Given the description of an element on the screen output the (x, y) to click on. 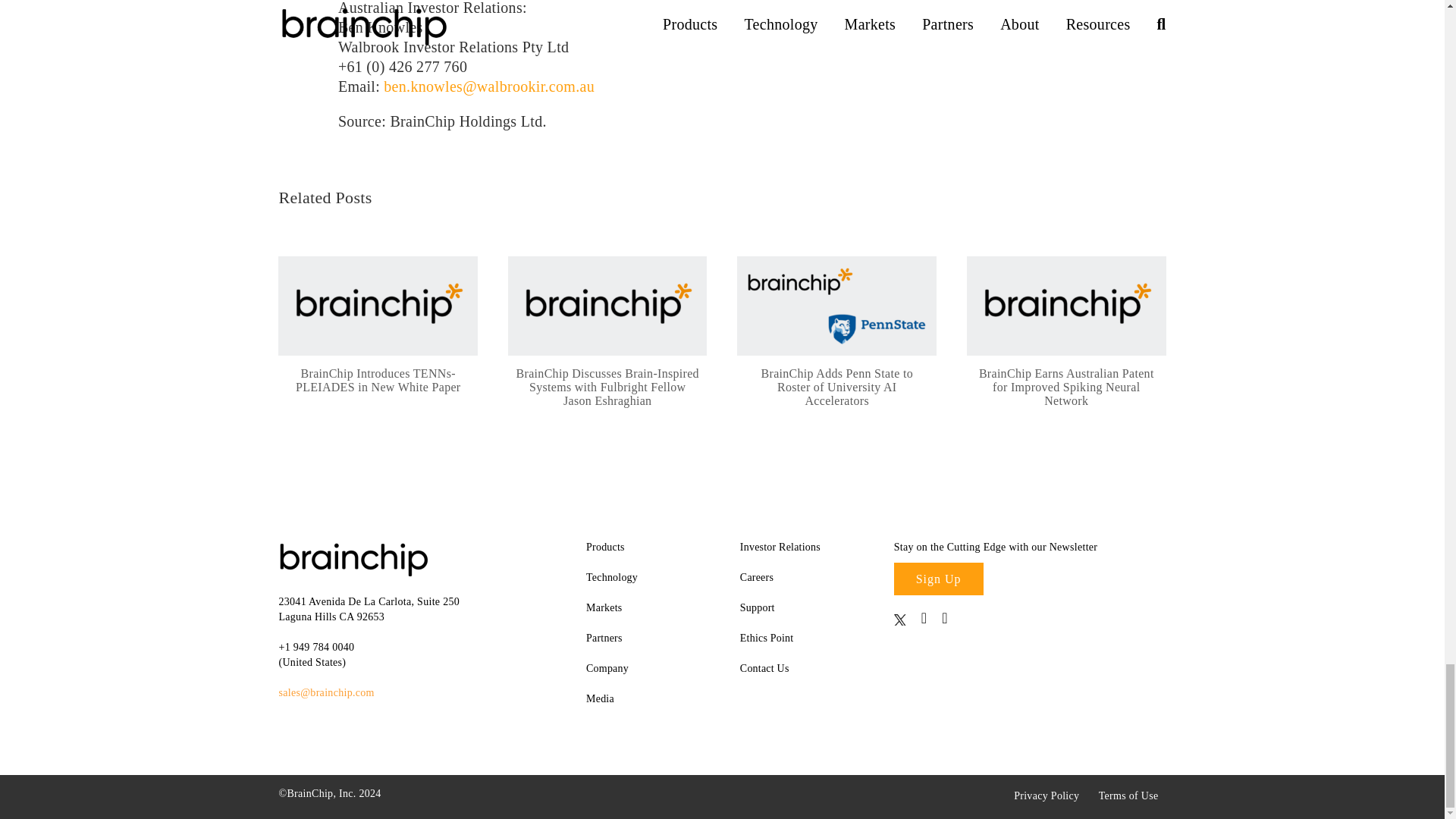
BrainChip Introduces TENNs-PLEIADES in New White Paper (377, 305)
